Given the description of an element on the screen output the (x, y) to click on. 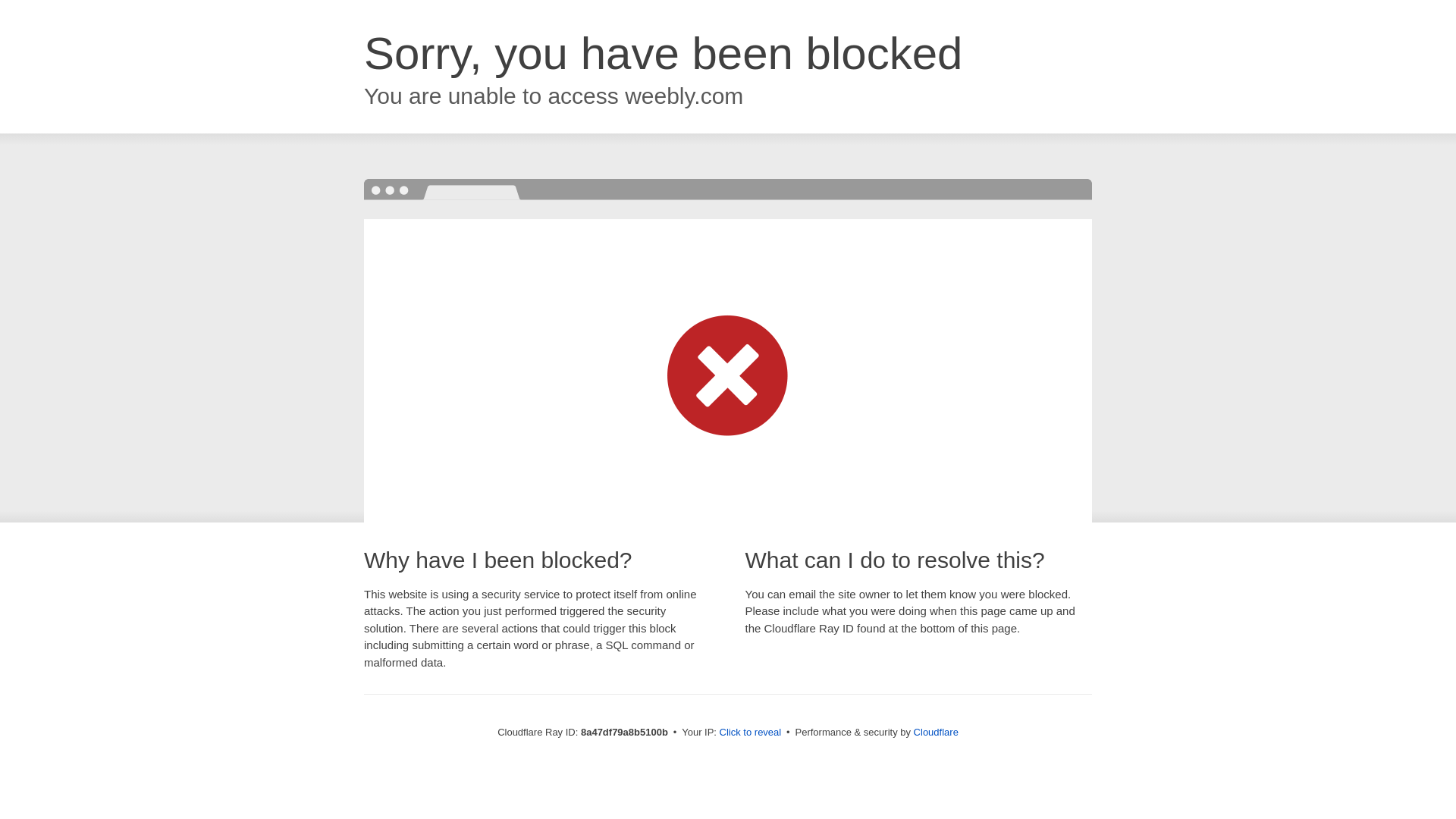
Click to reveal (750, 732)
Cloudflare (936, 731)
